Given the description of an element on the screen output the (x, y) to click on. 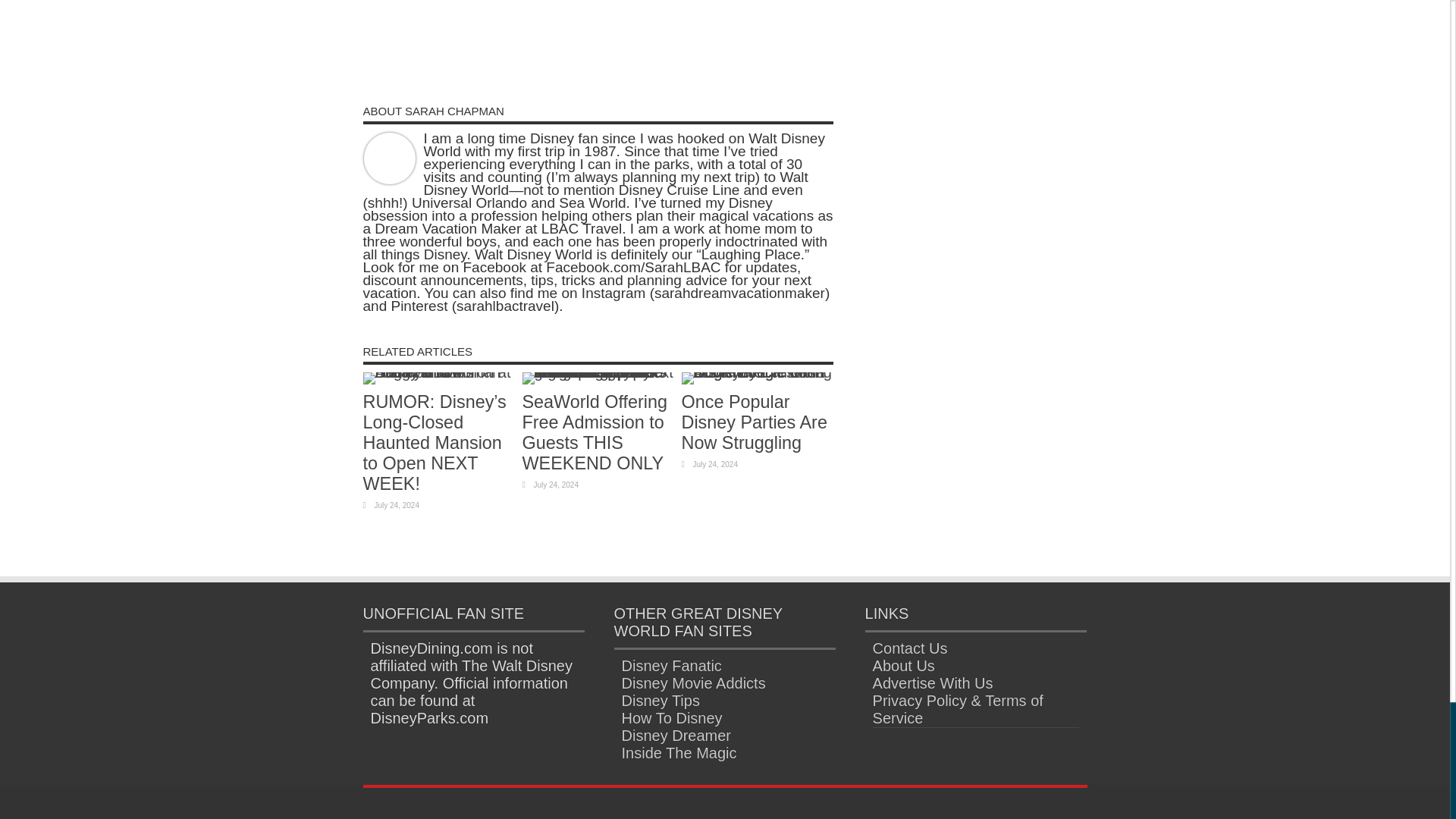
SeaWorld Offering Free Admission to Guests THIS WEEKEND ONLY (593, 432)
Once Popular Disney Parties Are Now Struggling (754, 422)
